Given the description of an element on the screen output the (x, y) to click on. 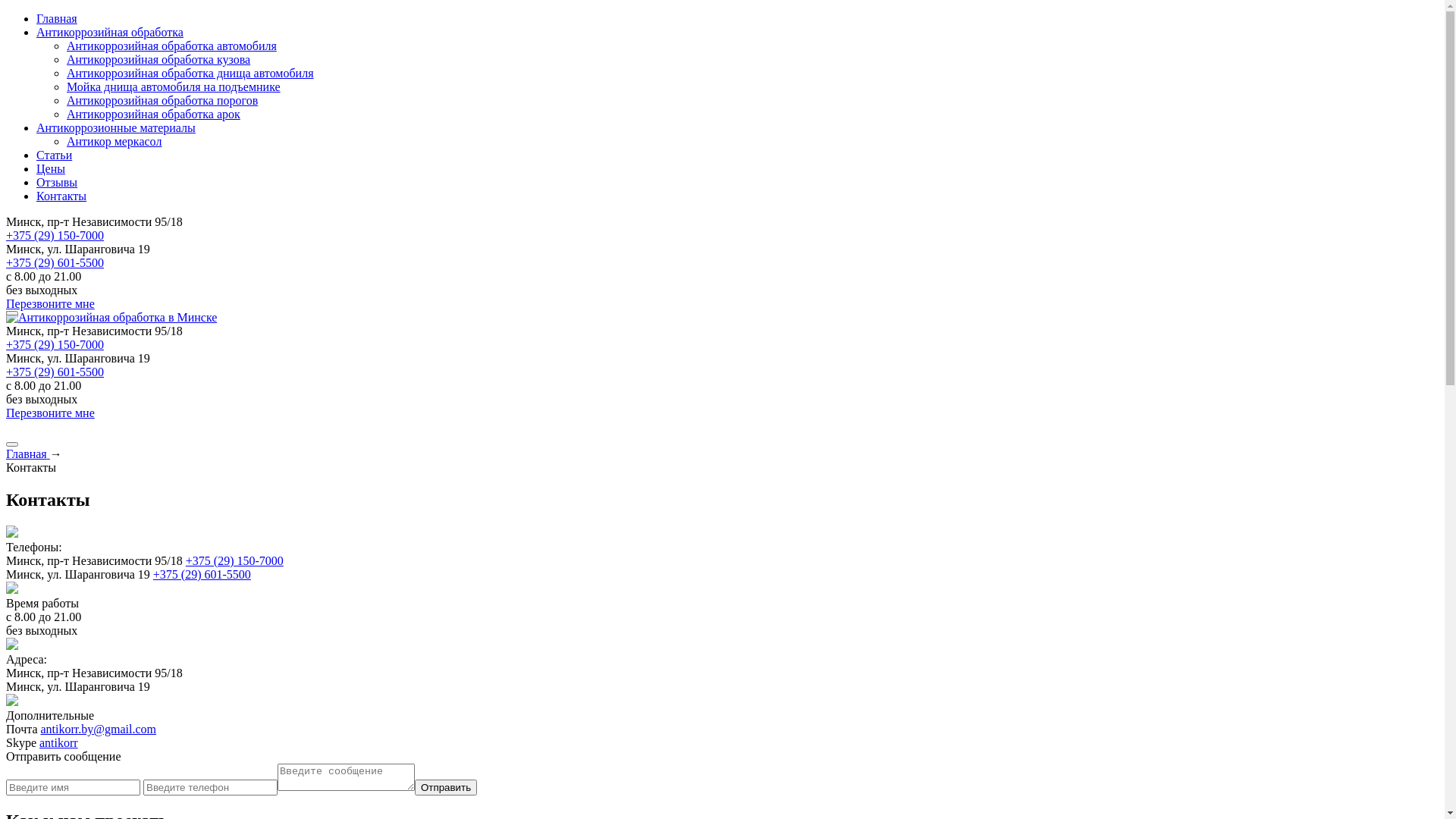
+375 (29) 150-7000 Element type: text (54, 344)
+375 (29) 150-7000 Element type: text (54, 235)
+375 (29) 601-5500 Element type: text (54, 262)
antikorr.by@gmail.com Element type: text (97, 728)
+375 (29) 150-7000 Element type: text (234, 560)
+375 (29) 601-5500 Element type: text (202, 573)
+375 (29) 601-5500 Element type: text (54, 371)
antikorr Element type: text (58, 742)
